Given the description of an element on the screen output the (x, y) to click on. 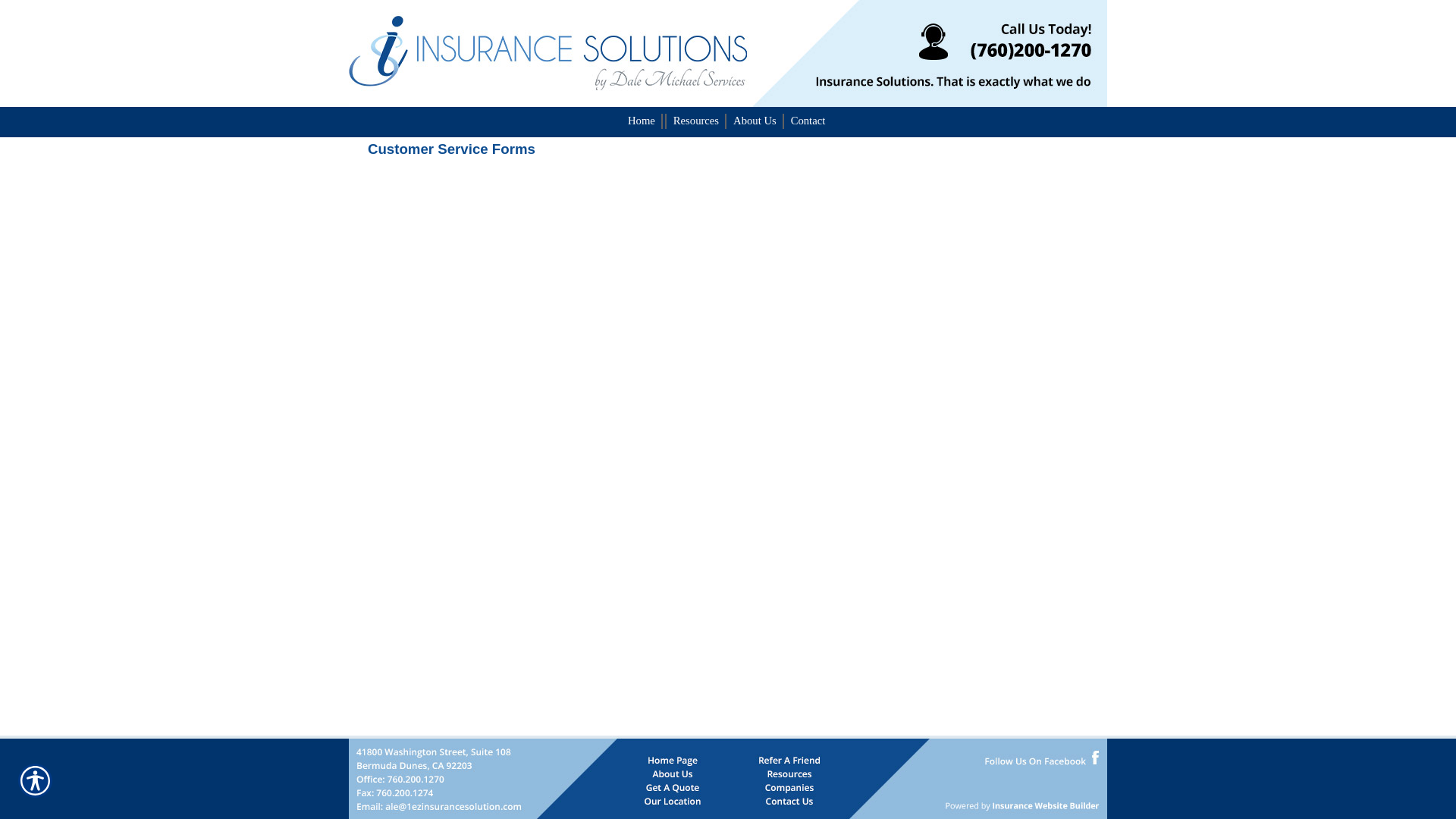
About Us Element type: text (754, 120)
Contact Element type: text (808, 120)
Home Element type: text (641, 120)
Toggle Accessibility Menu (Alt+A) Element type: hover (35, 780)
Resources Element type: text (696, 120)
